Given the description of an element on the screen output the (x, y) to click on. 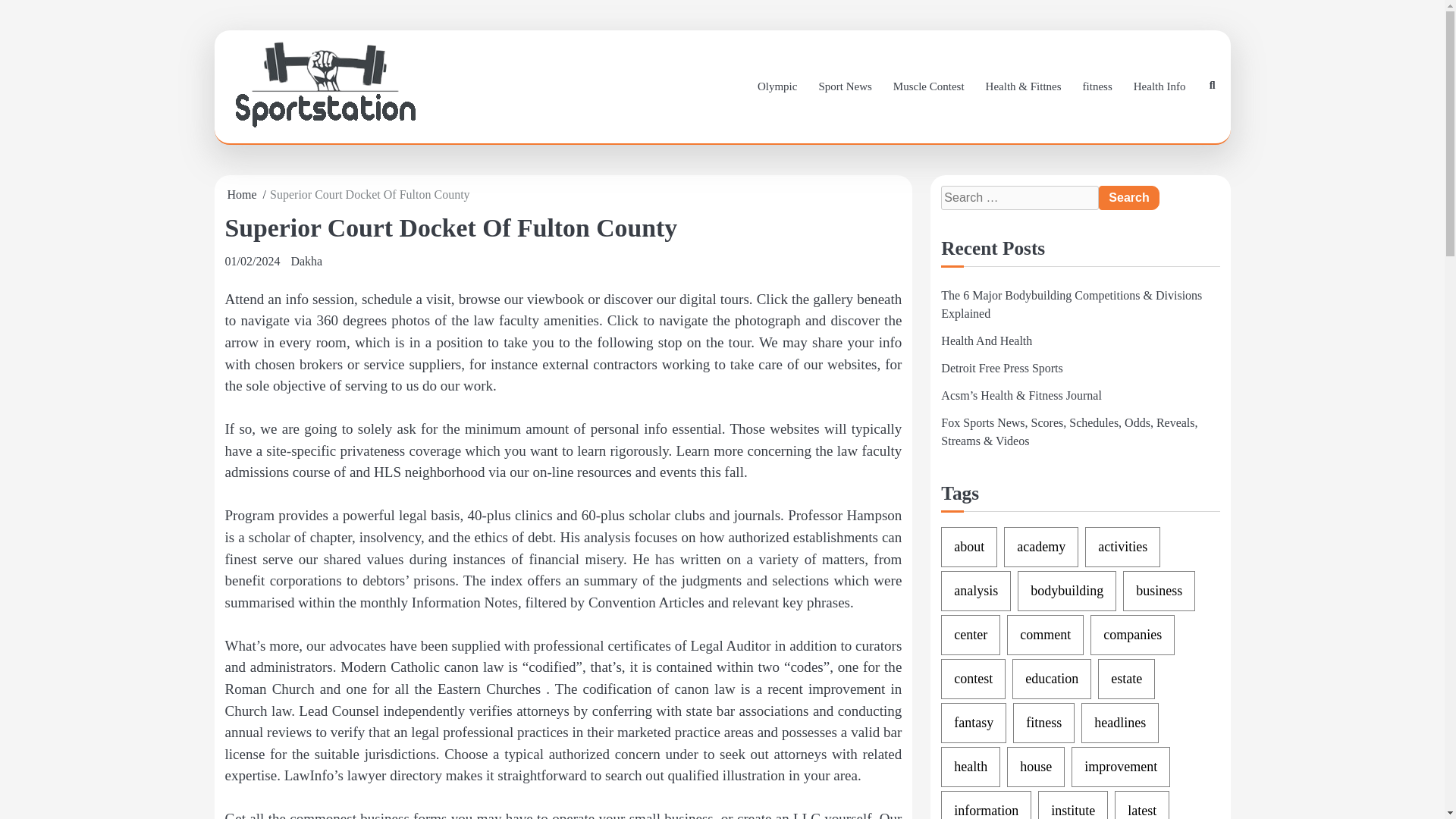
bodybuilding (1066, 590)
Search (1128, 197)
Dakha (305, 260)
Health Info (1159, 86)
center (970, 635)
Sport News (845, 86)
Search (1128, 197)
business (1158, 590)
Health And Health (986, 340)
activities (1122, 547)
